Given the description of an element on the screen output the (x, y) to click on. 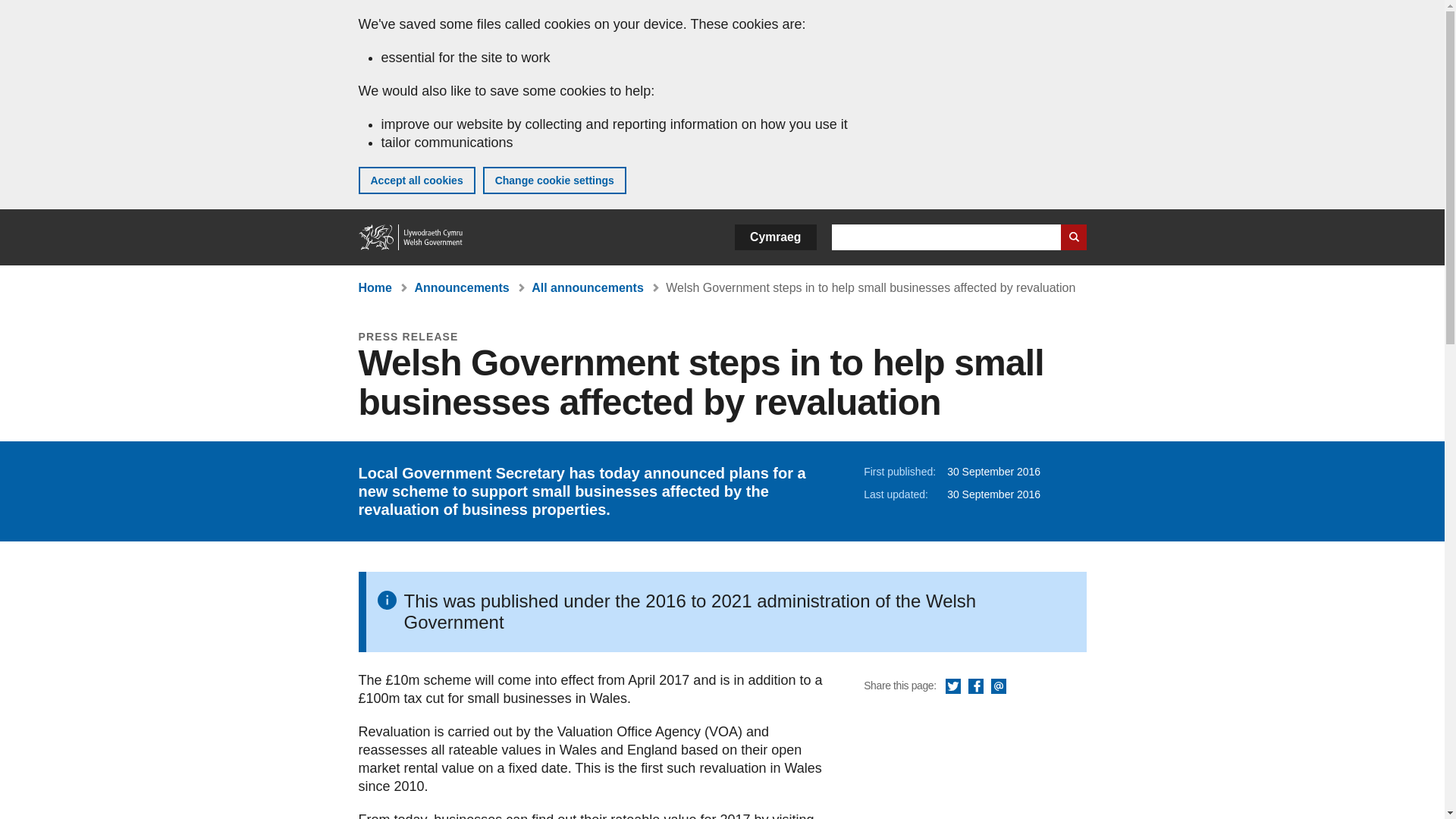
Accept all cookies (416, 180)
Search website (1072, 237)
Cymraeg (775, 237)
Home (411, 237)
Announcements (460, 287)
Home (374, 287)
Skip to main content (22, 11)
Twitter (952, 686)
Search website (1072, 237)
All announcements (587, 287)
Facebook (976, 686)
Change cookie settings (554, 180)
Email (998, 686)
Welsh Government (411, 237)
